Given the description of an element on the screen output the (x, y) to click on. 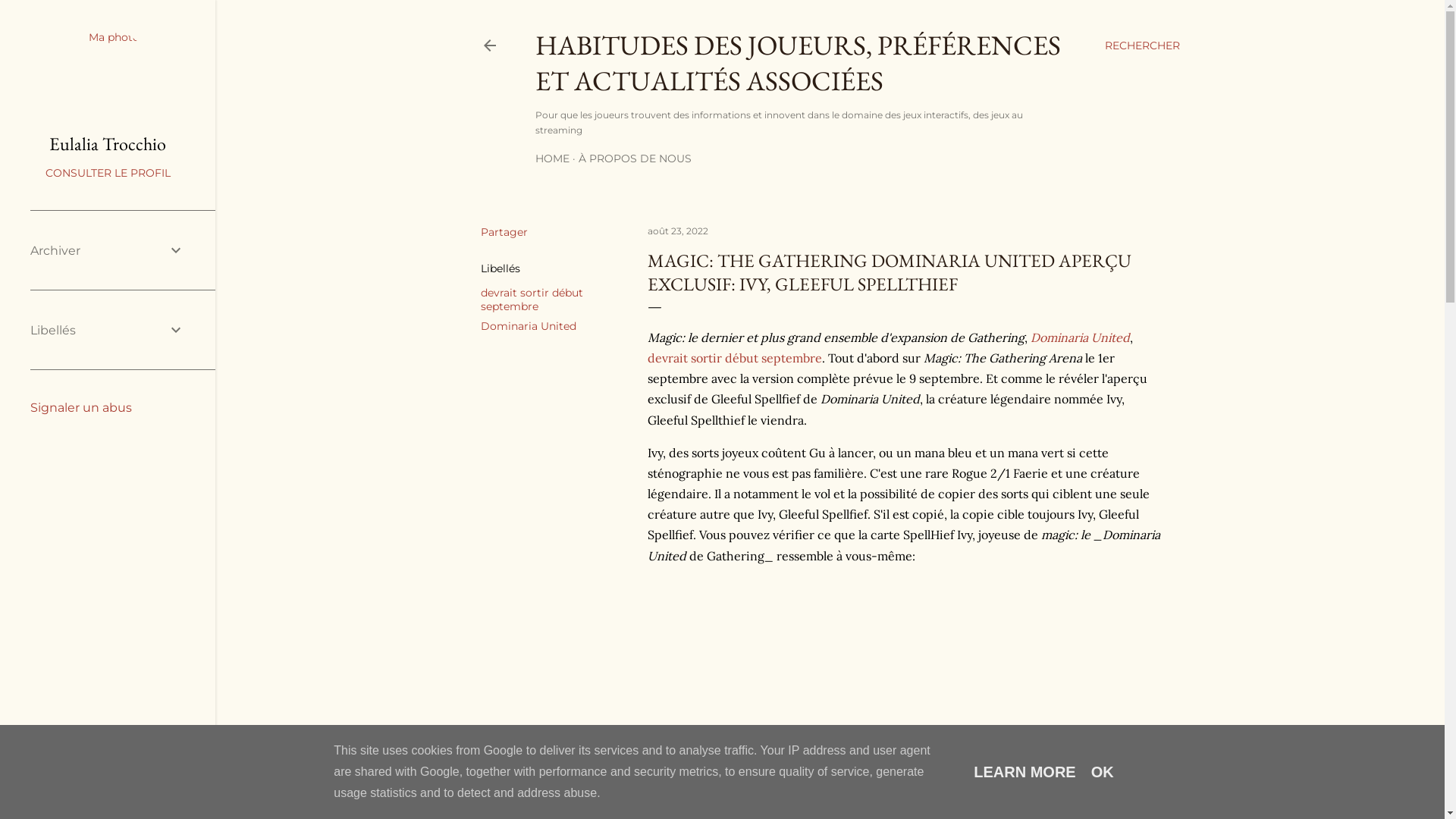
Dominaria United Element type: text (1079, 337)
OK Element type: text (1102, 771)
CONSULTER LE PROFIL Element type: text (107, 172)
Dominaria United Element type: text (528, 325)
Eulalia Trocchio Element type: text (107, 143)
HOME Element type: text (552, 158)
LEARN MORE Element type: text (1024, 771)
RECHERCHER Element type: text (1141, 45)
Signaler un abus Element type: text (80, 407)
Partager Element type: text (503, 231)
